Given the description of an element on the screen output the (x, y) to click on. 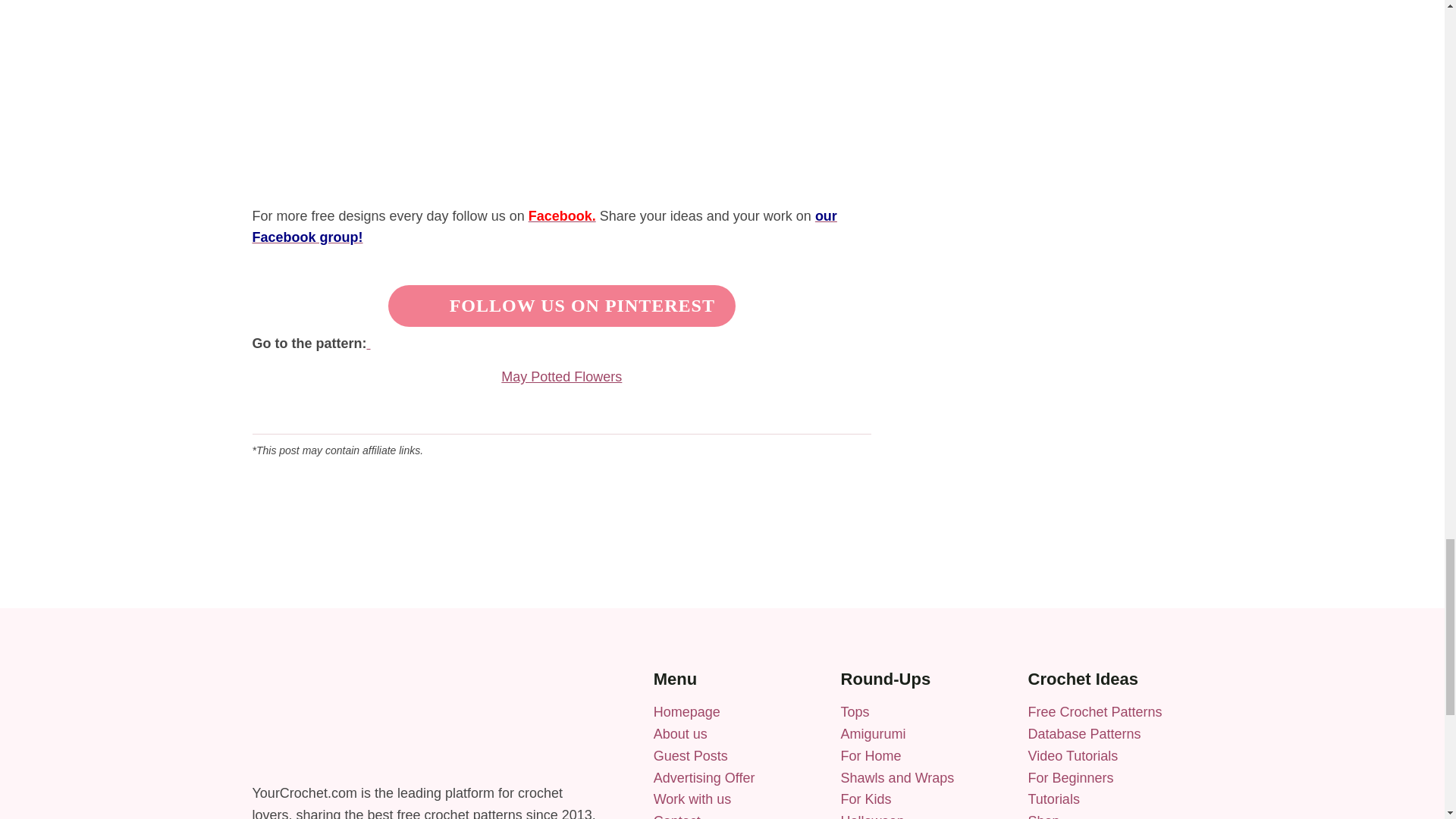
Work with us (692, 798)
Your Crochet (686, 711)
About us (680, 734)
Guest Posts (690, 755)
FOLLOW US ON PINTEREST (581, 305)
Advertising Offer (704, 777)
